Given the description of an element on the screen output the (x, y) to click on. 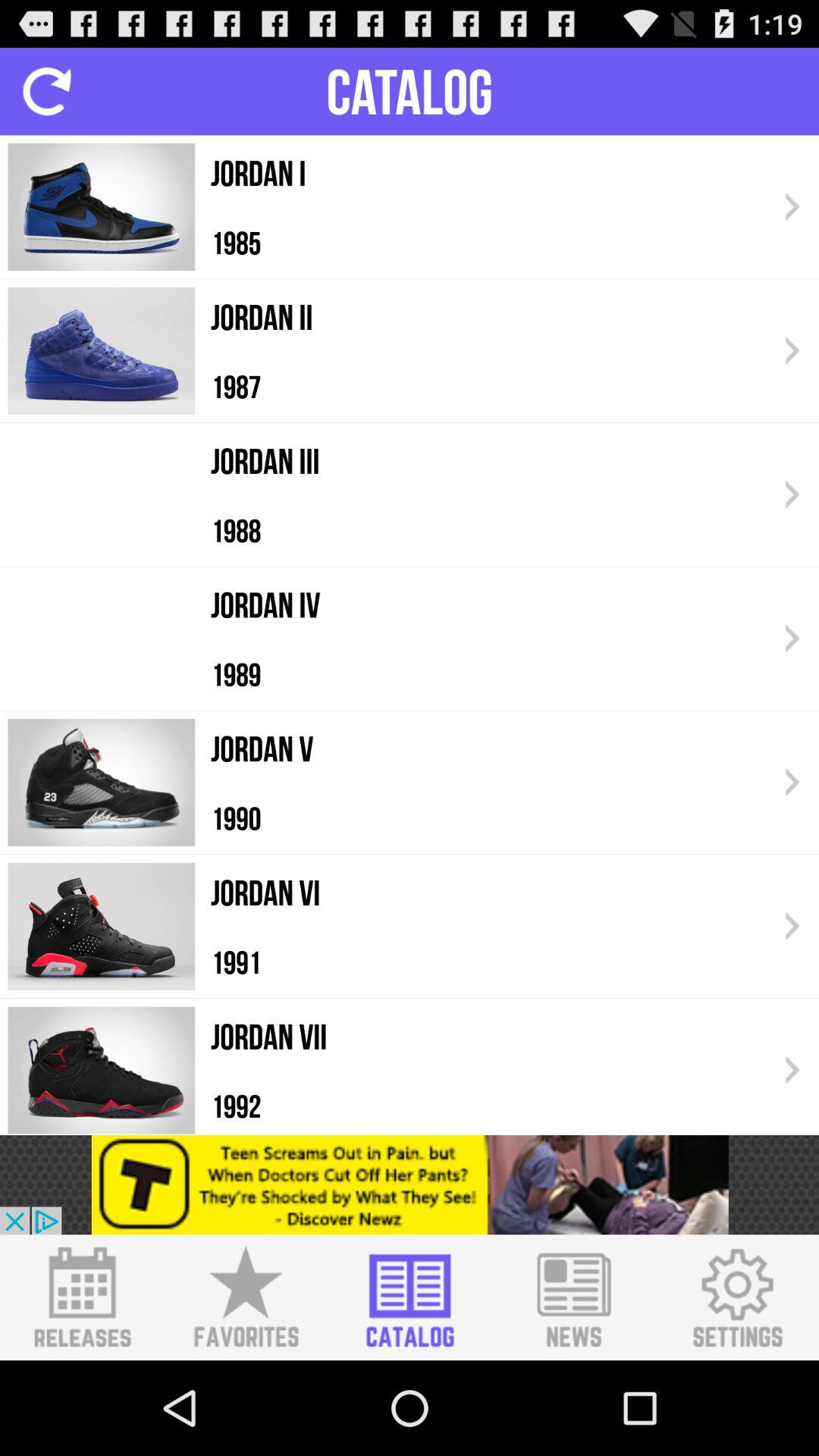
news (573, 1297)
